Given the description of an element on the screen output the (x, y) to click on. 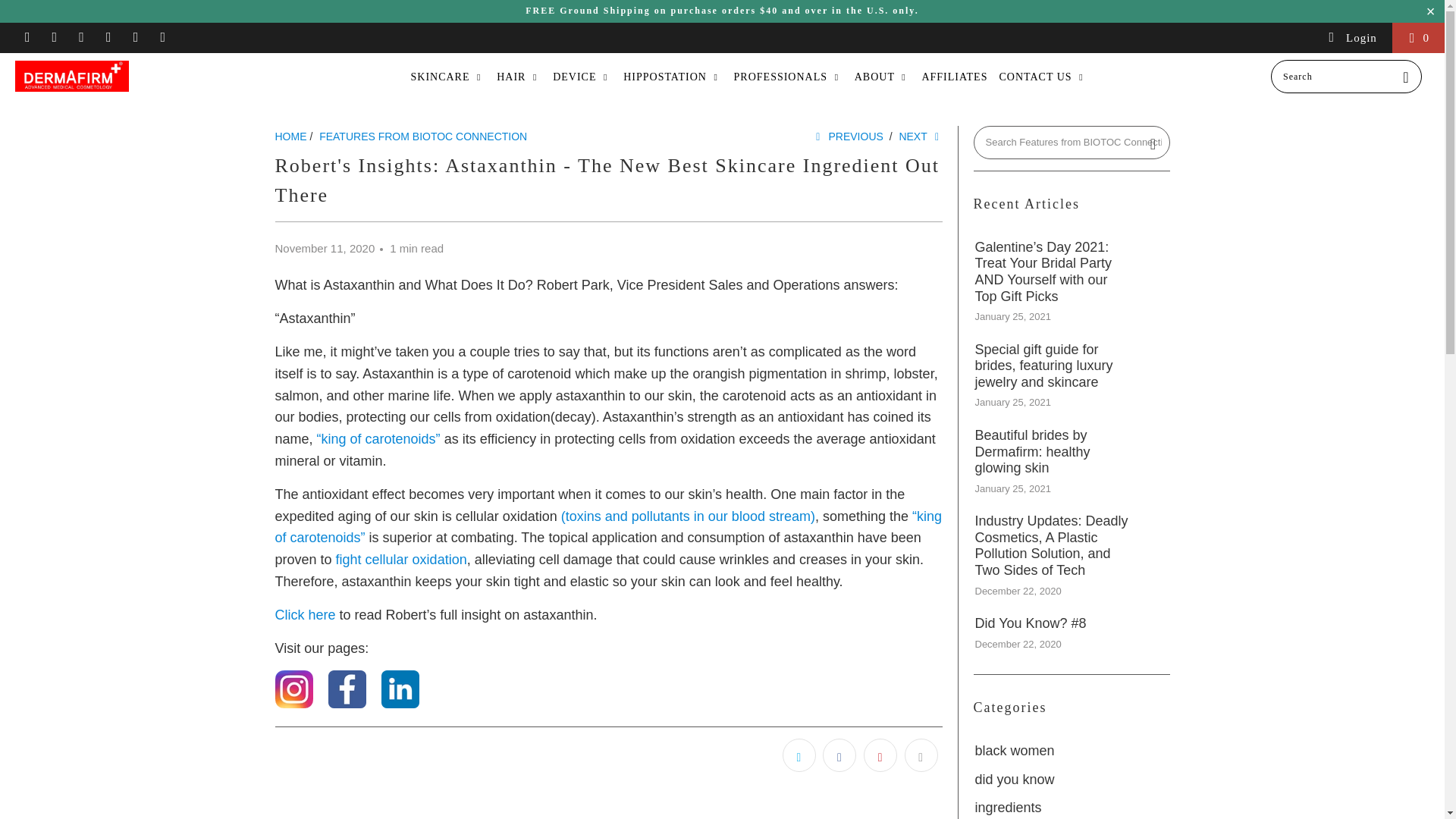
BIOTOC USA Facebook Page (347, 703)
BIOTOC USA Instagram Page (294, 703)
Dermafirm USA on YouTube (80, 37)
Email Dermafirm USA (162, 37)
Dermafirm USA on Facebook (54, 37)
My Account  (1351, 37)
BIOTOC USA LinkedIn Page (400, 703)
Features from BIOTOC Connection (422, 136)
Dermafirm USA on Instagram (135, 37)
Dermafirm USA (122, 75)
